Given the description of an element on the screen output the (x, y) to click on. 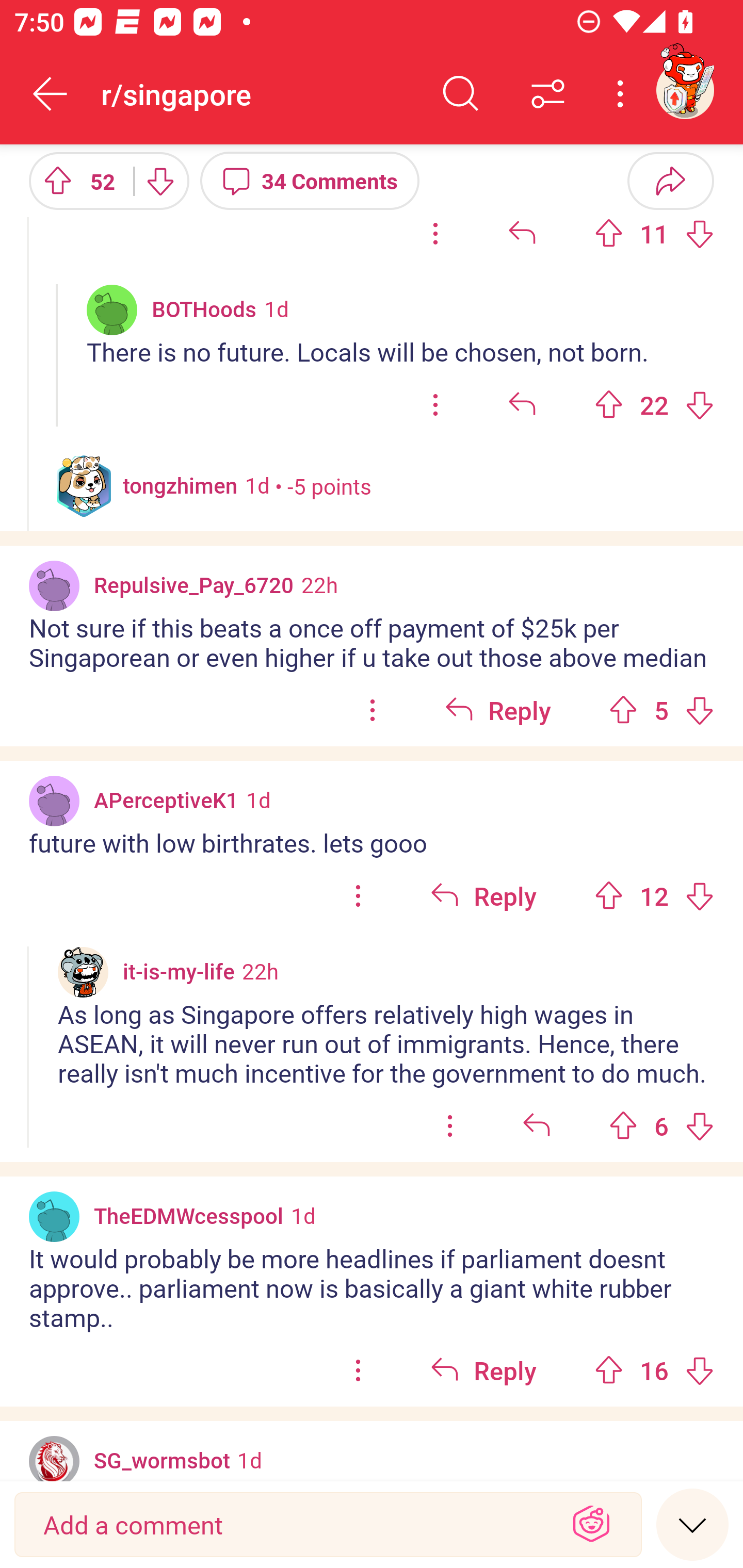
Back (50, 93)
TestAppium002 account (685, 90)
Search comments (460, 93)
Sort comments (547, 93)
More options (623, 93)
r/singapore (259, 92)
Upvote 52 (73, 180)
Downvote (158, 180)
34 Comments (309, 180)
Share (670, 180)
options (435, 233)
Upvote 11 11 votes Downvote (654, 233)
Avatar (111, 309)
options (435, 404)
Upvote 22 22 votes Downvote (654, 404)
Avatar (53, 585)
options (372, 710)
Reply (498, 710)
Upvote 5 5 votes Downvote (661, 710)
Avatar (53, 801)
future with low birthrates. lets gooo (371, 842)
options (358, 895)
Reply (483, 895)
Upvote 12 12 votes Downvote (654, 895)
Custom avatar (82, 972)
options (449, 1125)
Upvote 6 6 votes Downvote (661, 1125)
Avatar (53, 1216)
options (358, 1370)
Reply (483, 1370)
Upvote 16 16 votes Downvote (654, 1370)
Avatar (53, 1458)
Speed read (692, 1524)
Add a comment (291, 1524)
Show Expressions (590, 1524)
